Given the description of an element on the screen output the (x, y) to click on. 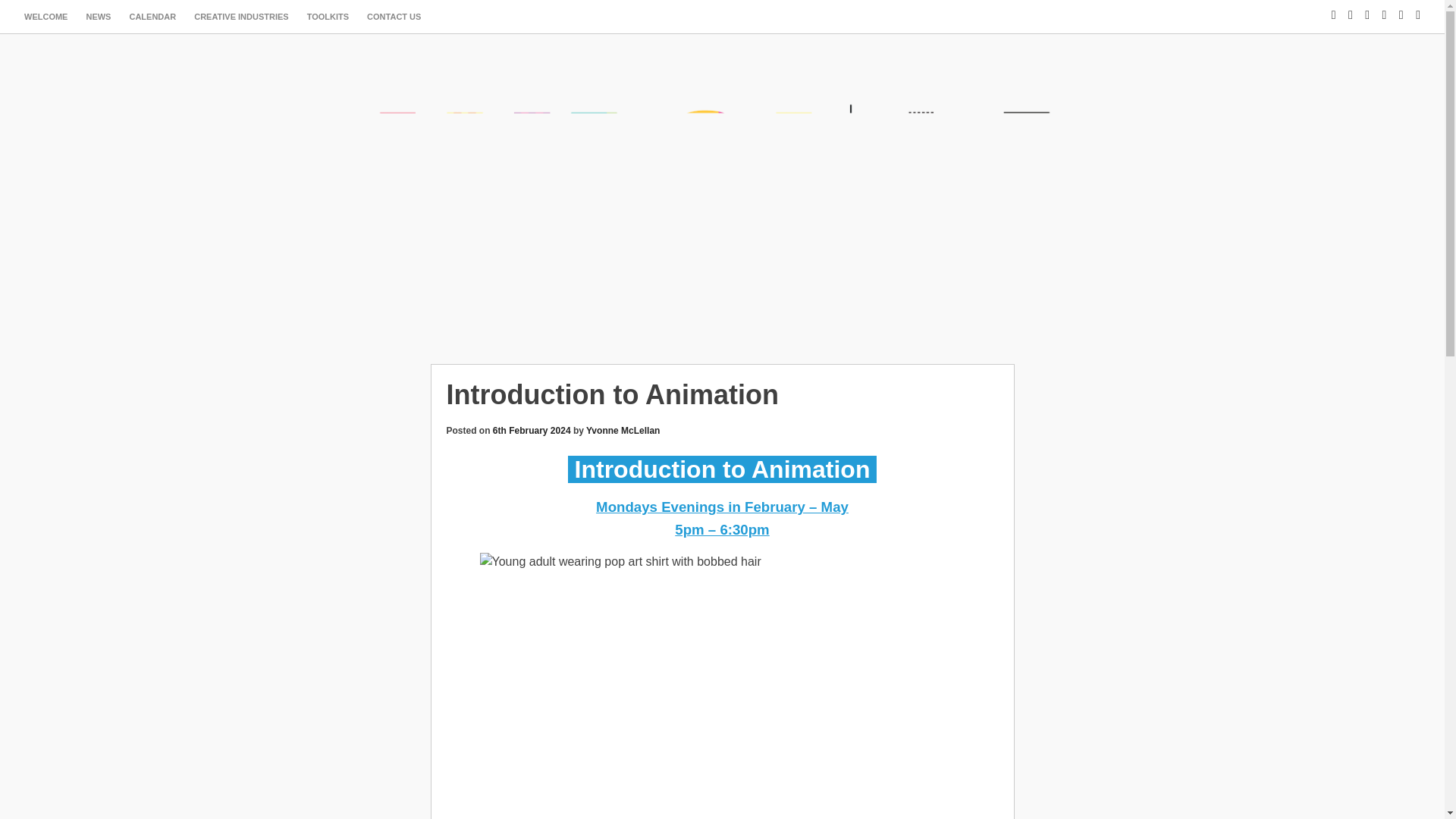
CALENDAR (151, 17)
NEWS (98, 17)
Widening Access to the Creative Industries (722, 299)
CREATIVE INDUSTRIES (240, 17)
TOOLKITS (328, 17)
